Given the description of an element on the screen output the (x, y) to click on. 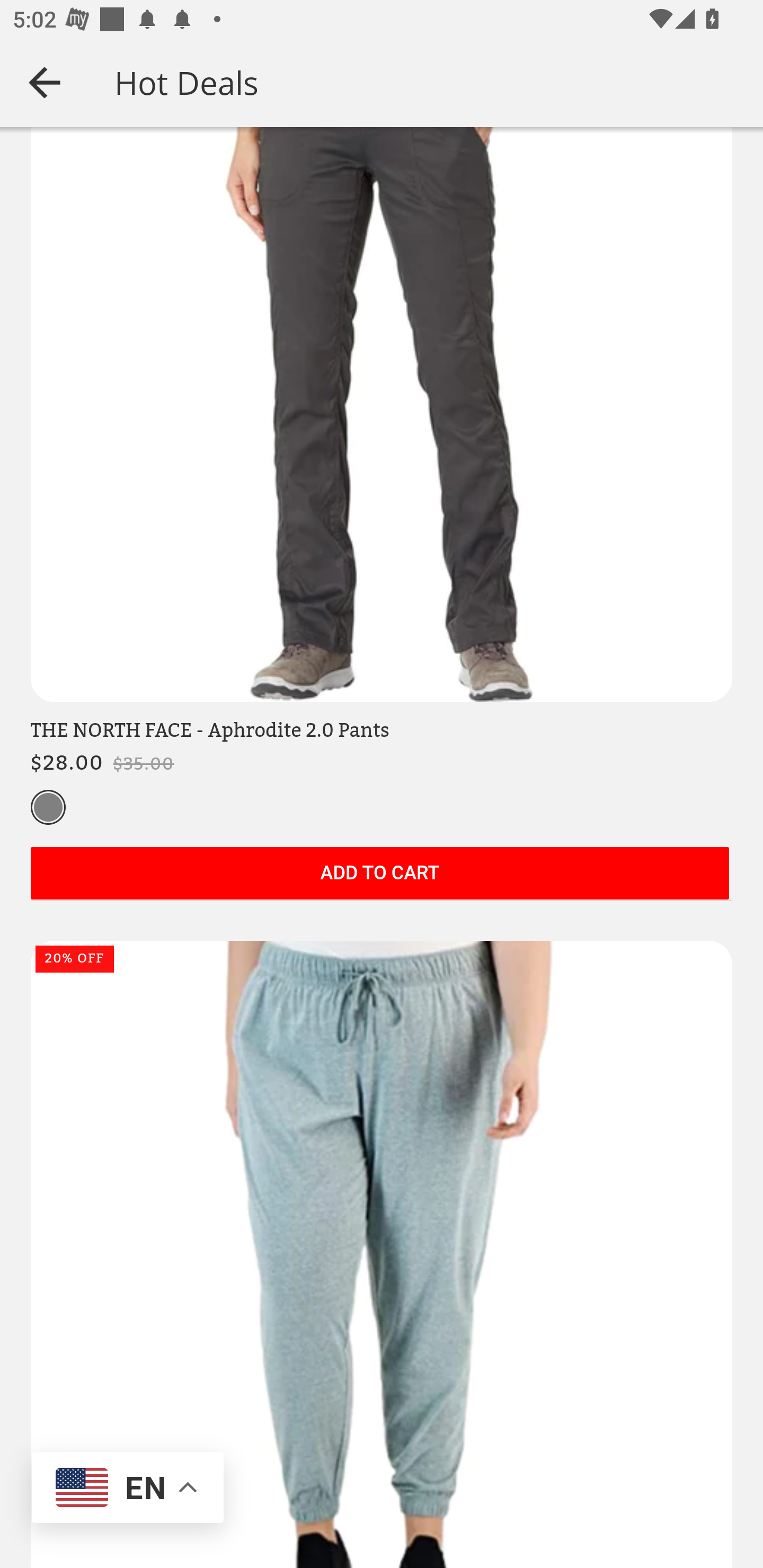
Navigate up (44, 82)
Grey (48, 809)
ADD TO CART (379, 875)
